Given the description of an element on the screen output the (x, y) to click on. 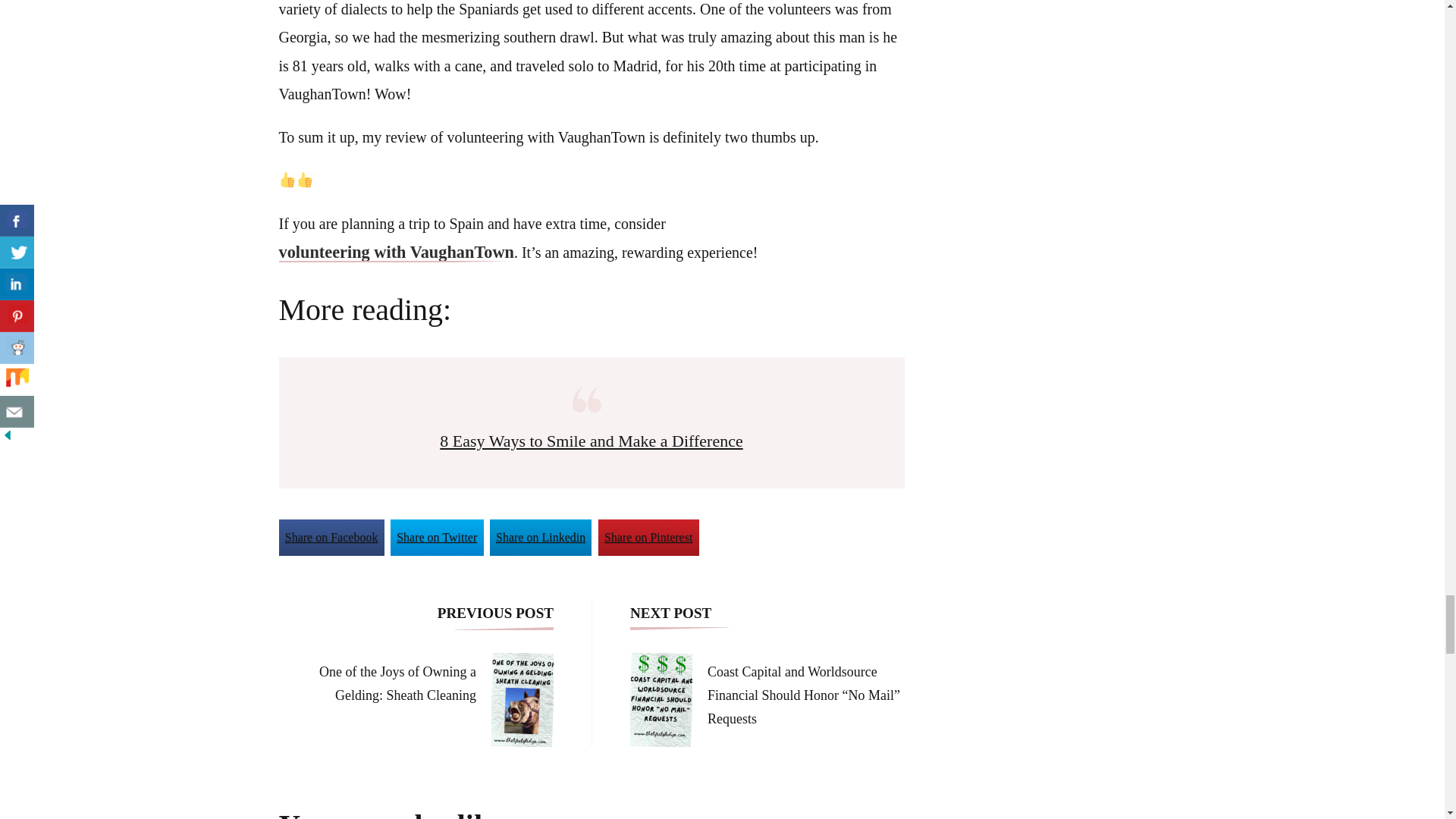
volunteering with VaughanTown (396, 253)
8 Easy Ways to Smile and Make a Difference (590, 440)
Share on Facebook (331, 537)
